Given the description of an element on the screen output the (x, y) to click on. 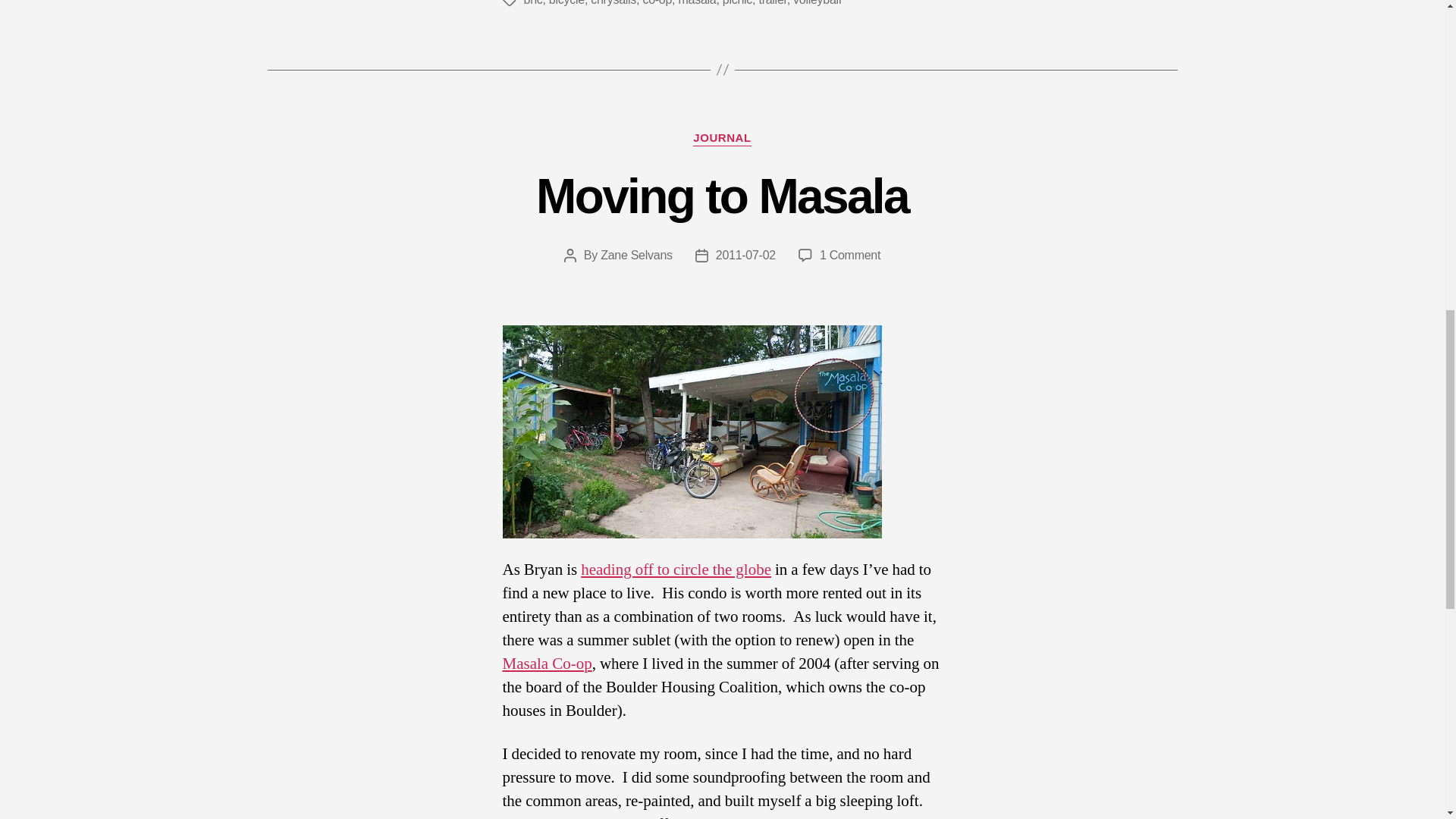
masala (849, 254)
JOURNAL (697, 2)
trailer (722, 138)
volleyball (772, 2)
The Masala Co-op (817, 2)
Masala Co-op (546, 663)
Biking Around Again (546, 663)
Zane Selvans (675, 569)
bicycle (635, 254)
